Given the description of an element on the screen output the (x, y) to click on. 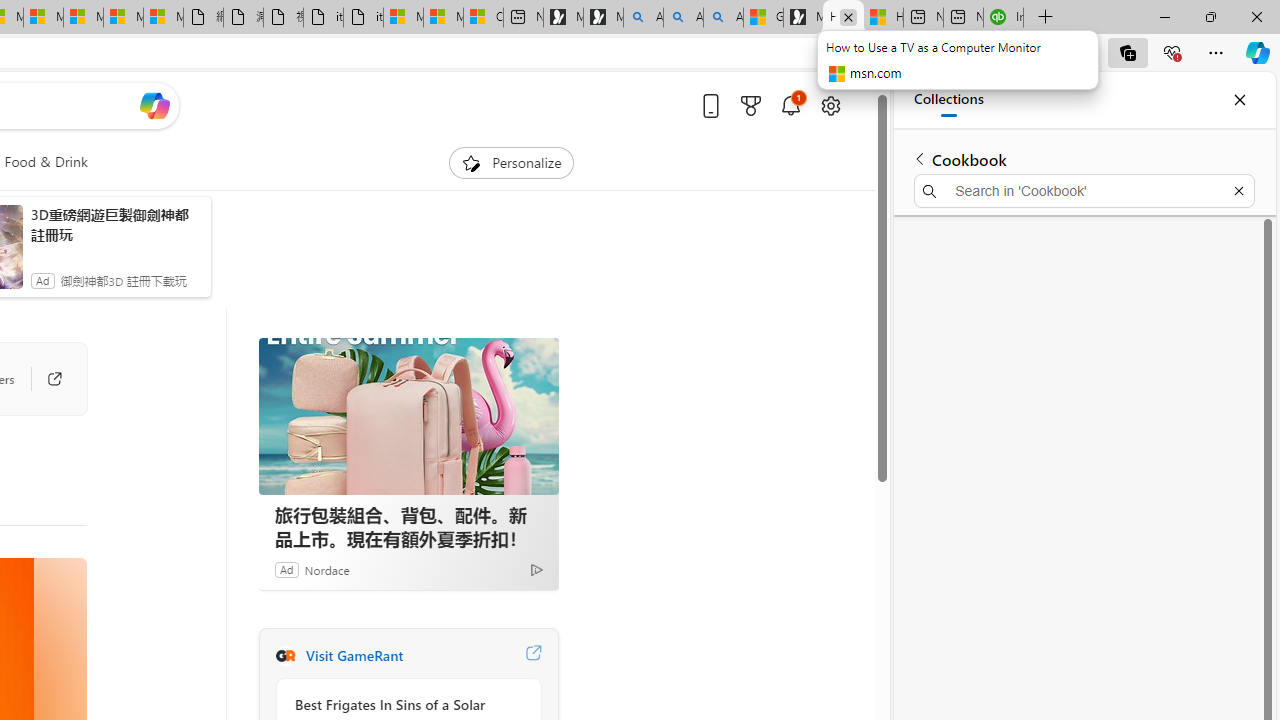
Enter Immersive Reader (F9) (991, 53)
itconcepthk.com/projector_solutions.mp4 (363, 17)
Exit search (1238, 190)
Search in 'Cookbook' (1084, 190)
Visit GameRant website (532, 655)
Microsoft Services Agreement (43, 17)
